Given the description of an element on the screen output the (x, y) to click on. 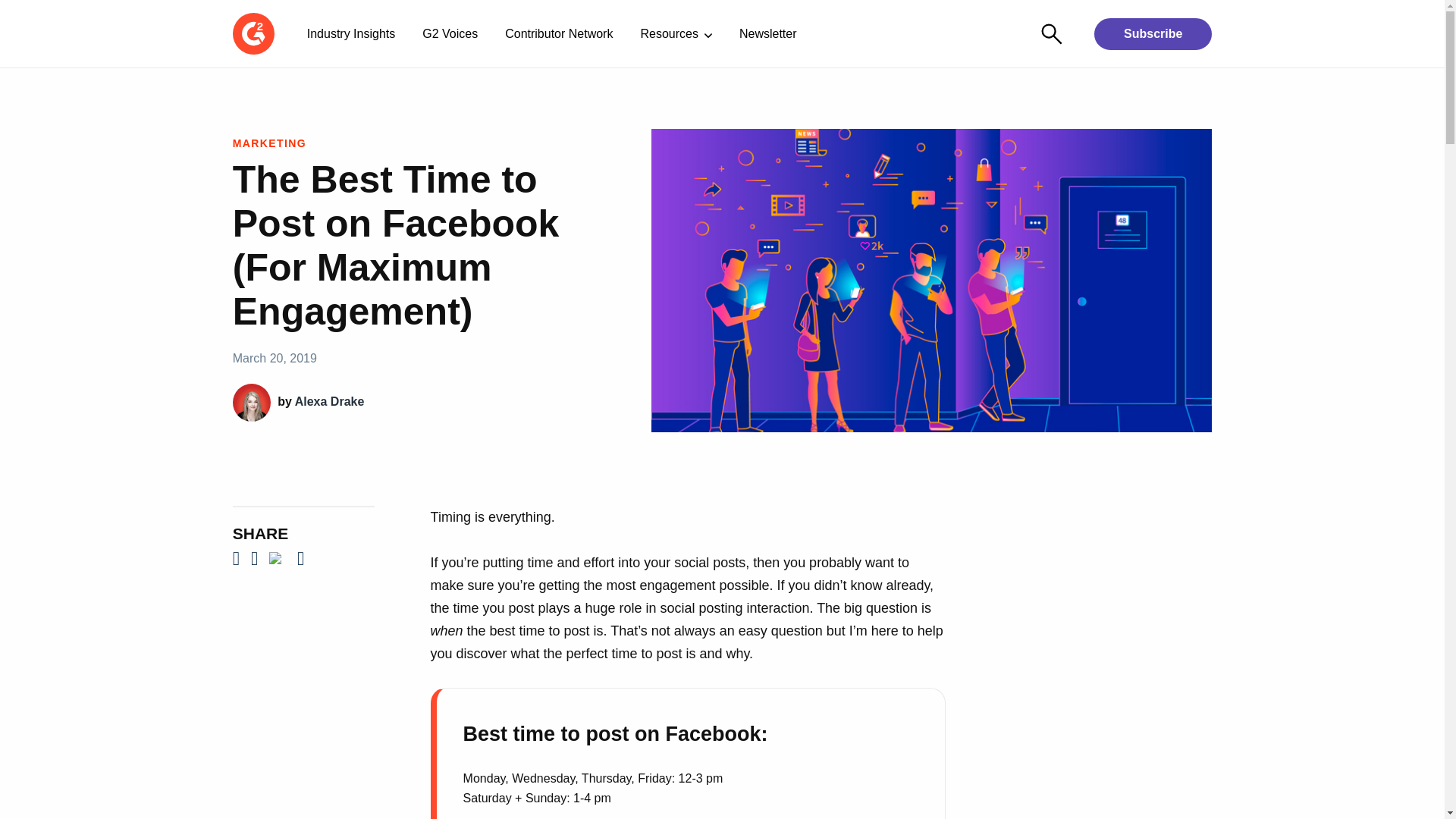
Resources (675, 33)
Industry Insights (351, 33)
Contributor Network (559, 33)
Newsletter (767, 33)
Alexa Drake (330, 400)
MARKETING (268, 142)
Subscribe (1152, 34)
G2 Voices (450, 33)
